Given the description of an element on the screen output the (x, y) to click on. 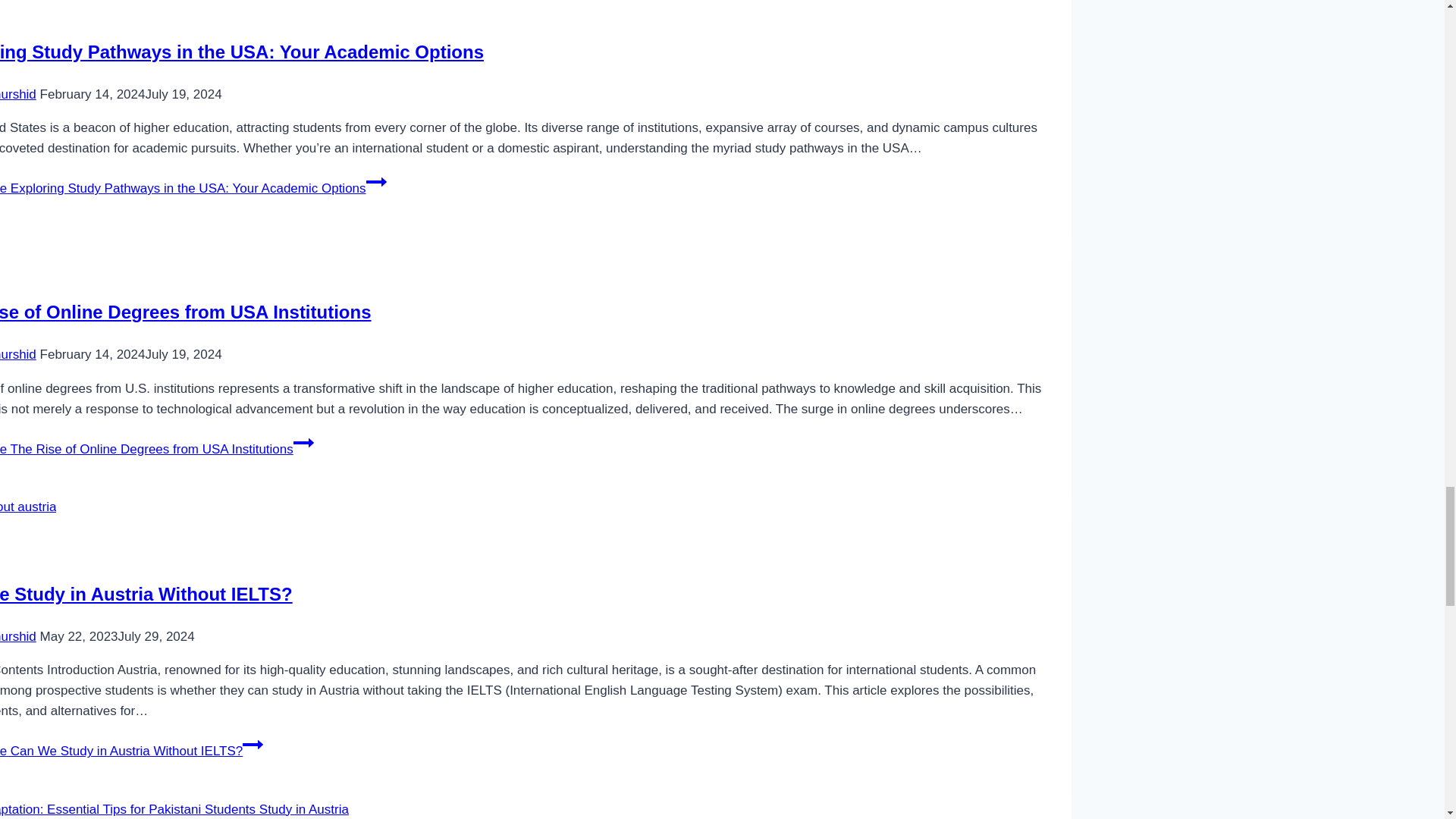
Continue (304, 442)
Continue (253, 744)
Continue (376, 181)
